Given the description of an element on the screen output the (x, y) to click on. 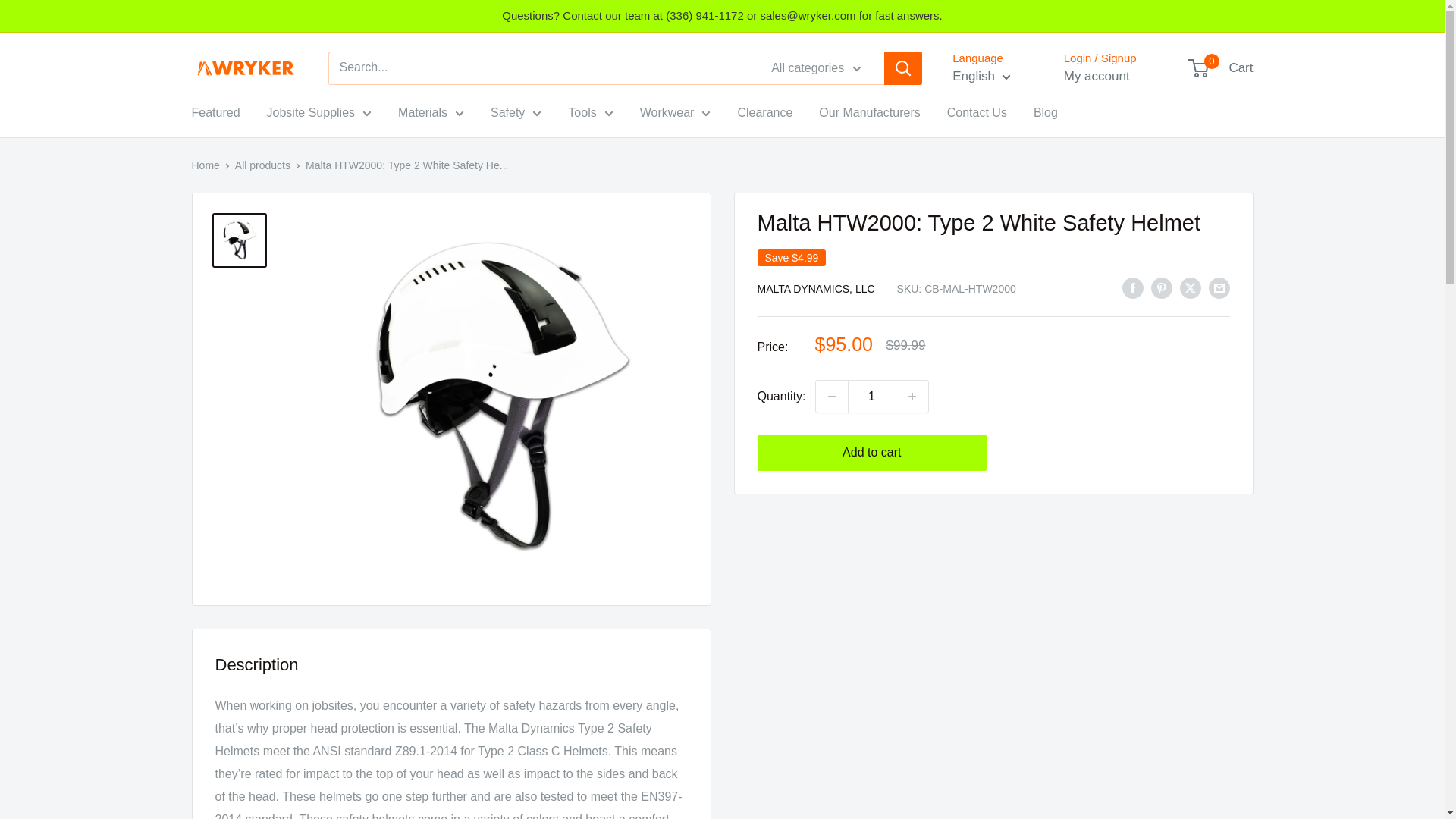
1 (871, 396)
Increase quantity by 1 (912, 396)
Decrease quantity by 1 (831, 396)
